Given the description of an element on the screen output the (x, y) to click on. 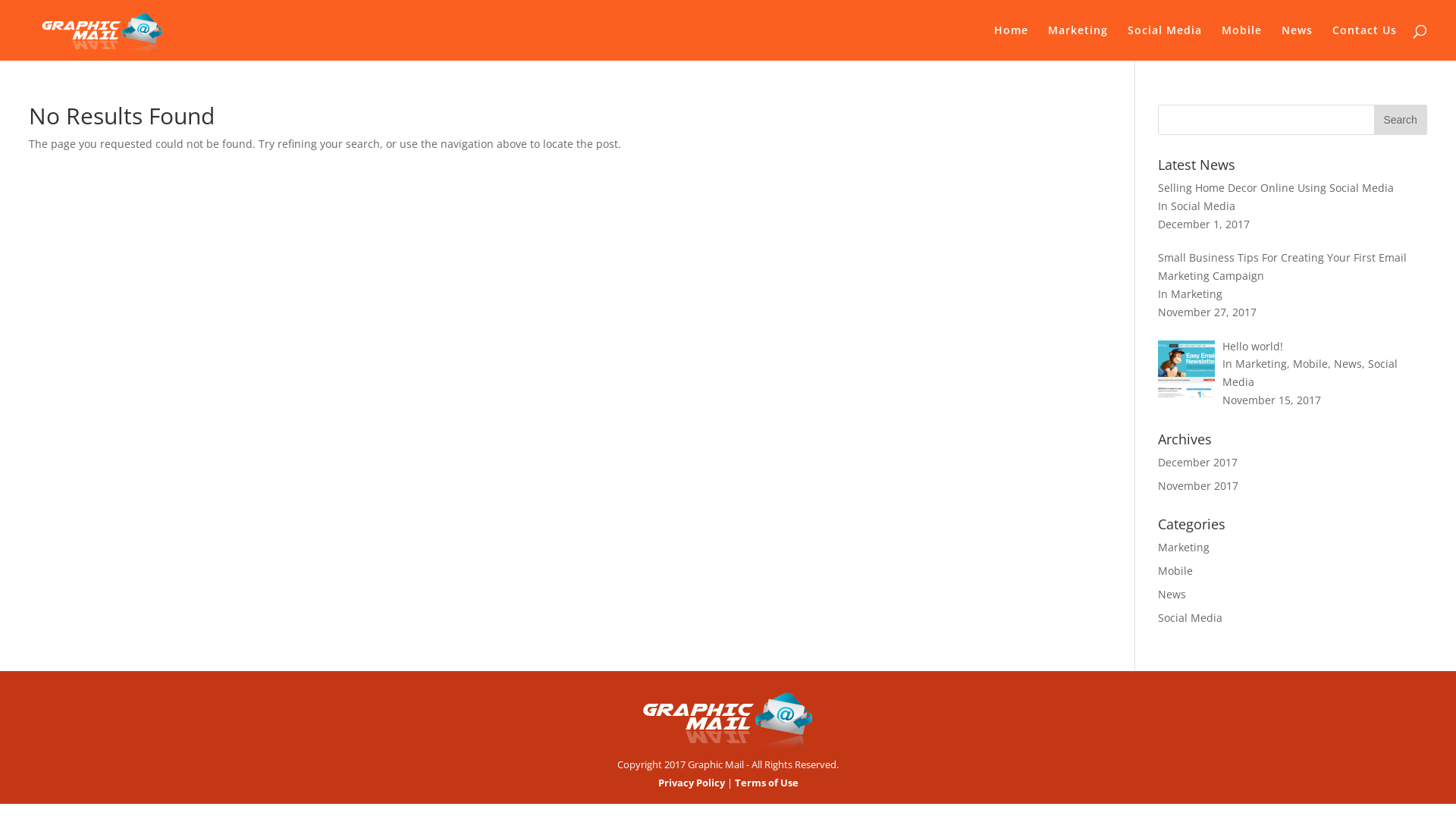
Home Element type: text (1011, 42)
Contact Us Element type: text (1364, 42)
Hello world! Element type: text (1252, 345)
News Element type: text (1296, 42)
Marketing Element type: text (1183, 546)
News Element type: text (1171, 593)
Marketing Element type: text (1077, 42)
December 2017 Element type: text (1197, 462)
November 2017 Element type: text (1197, 485)
Search Element type: text (1400, 119)
Selling Home Decor Online Using Social Media Element type: text (1275, 187)
Terms of Use Element type: text (765, 782)
Social Media Element type: text (1189, 617)
Mobile Element type: text (1174, 570)
Privacy Policy Element type: text (691, 782)
Social Media Element type: text (1164, 42)
Mobile Element type: text (1241, 42)
